Given the description of an element on the screen output the (x, y) to click on. 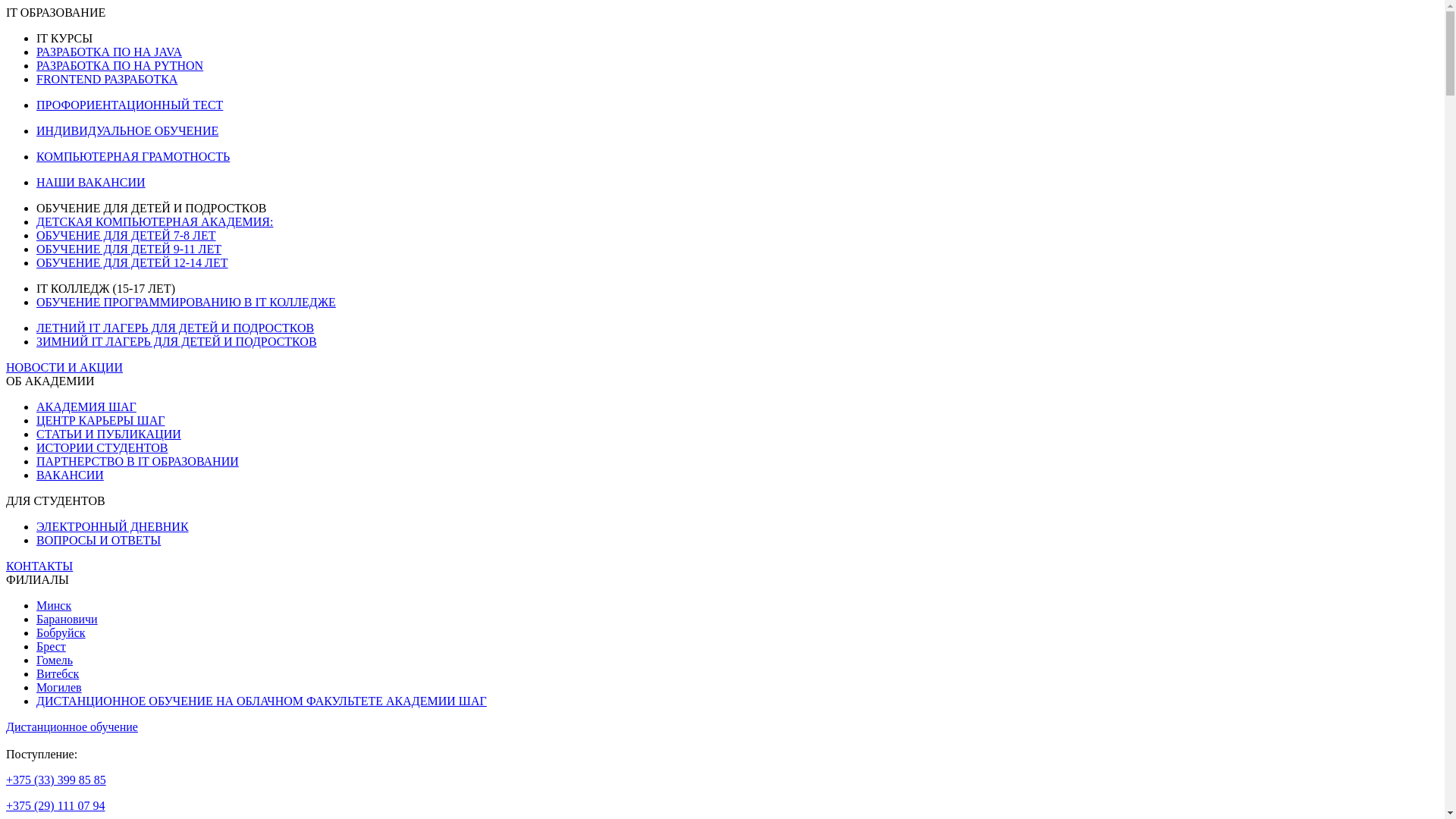
+375 (33) 399 85 85 Element type: text (56, 779)
+375 (29) 111 07 94 Element type: text (55, 805)
